Given the description of an element on the screen output the (x, y) to click on. 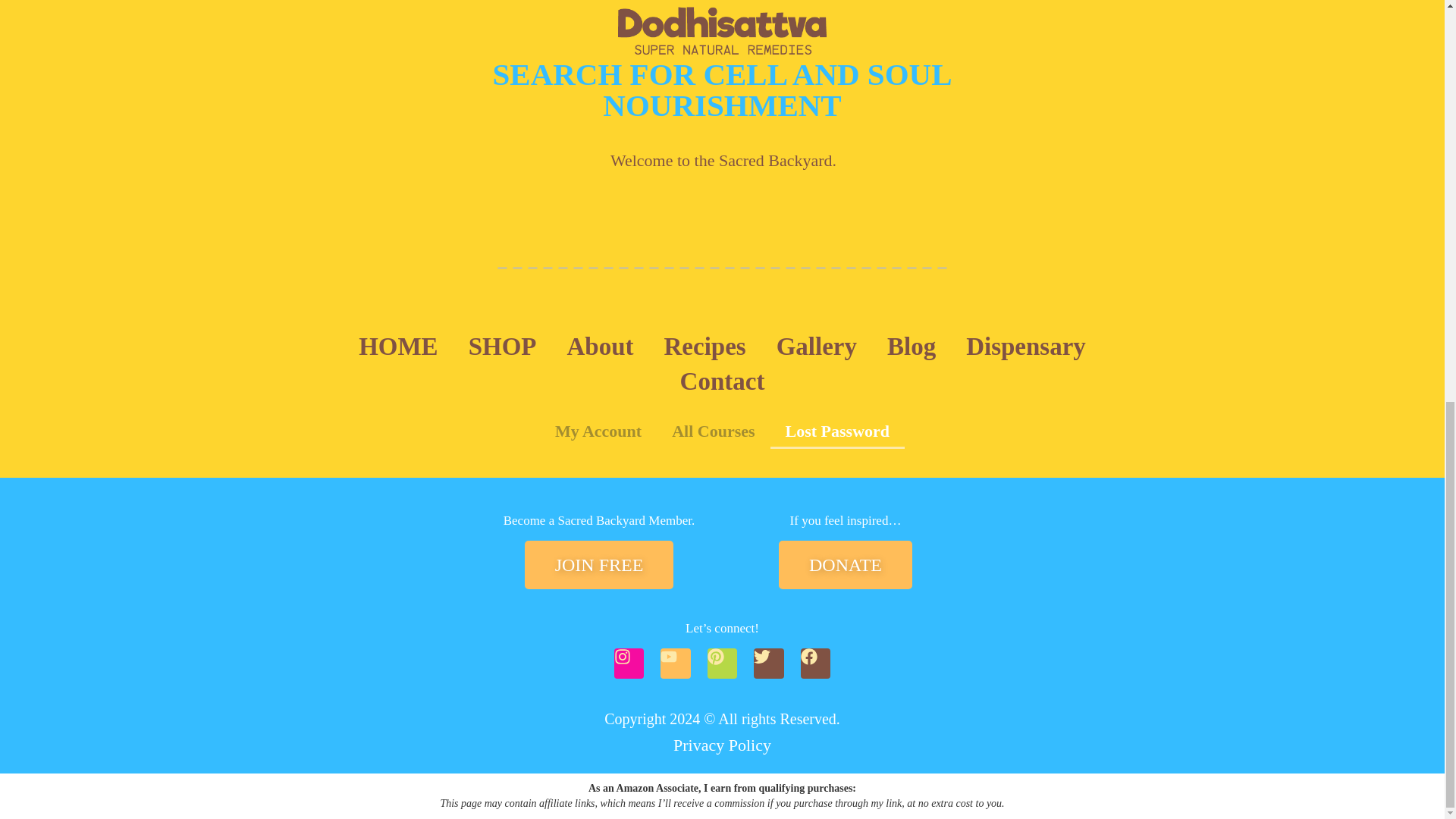
Page 1 (844, 520)
Page 1 (598, 520)
